Given the description of an element on the screen output the (x, y) to click on. 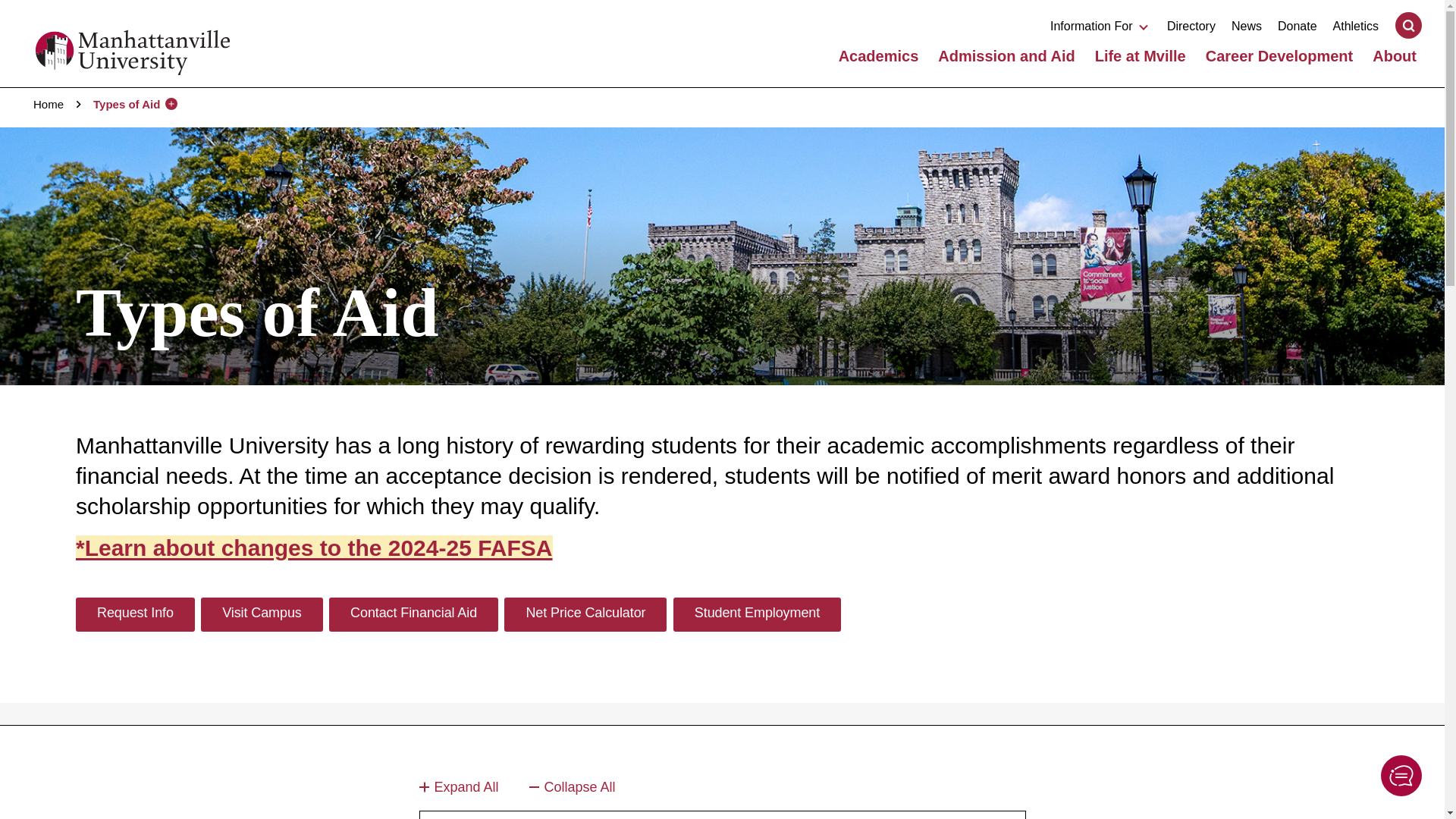
Information For (1100, 25)
Donate (1297, 25)
News (1246, 25)
Athletics (1355, 25)
Academics (878, 55)
Admission and Aid (1005, 55)
Directory (1191, 25)
Search (1408, 25)
